Given the description of an element on the screen output the (x, y) to click on. 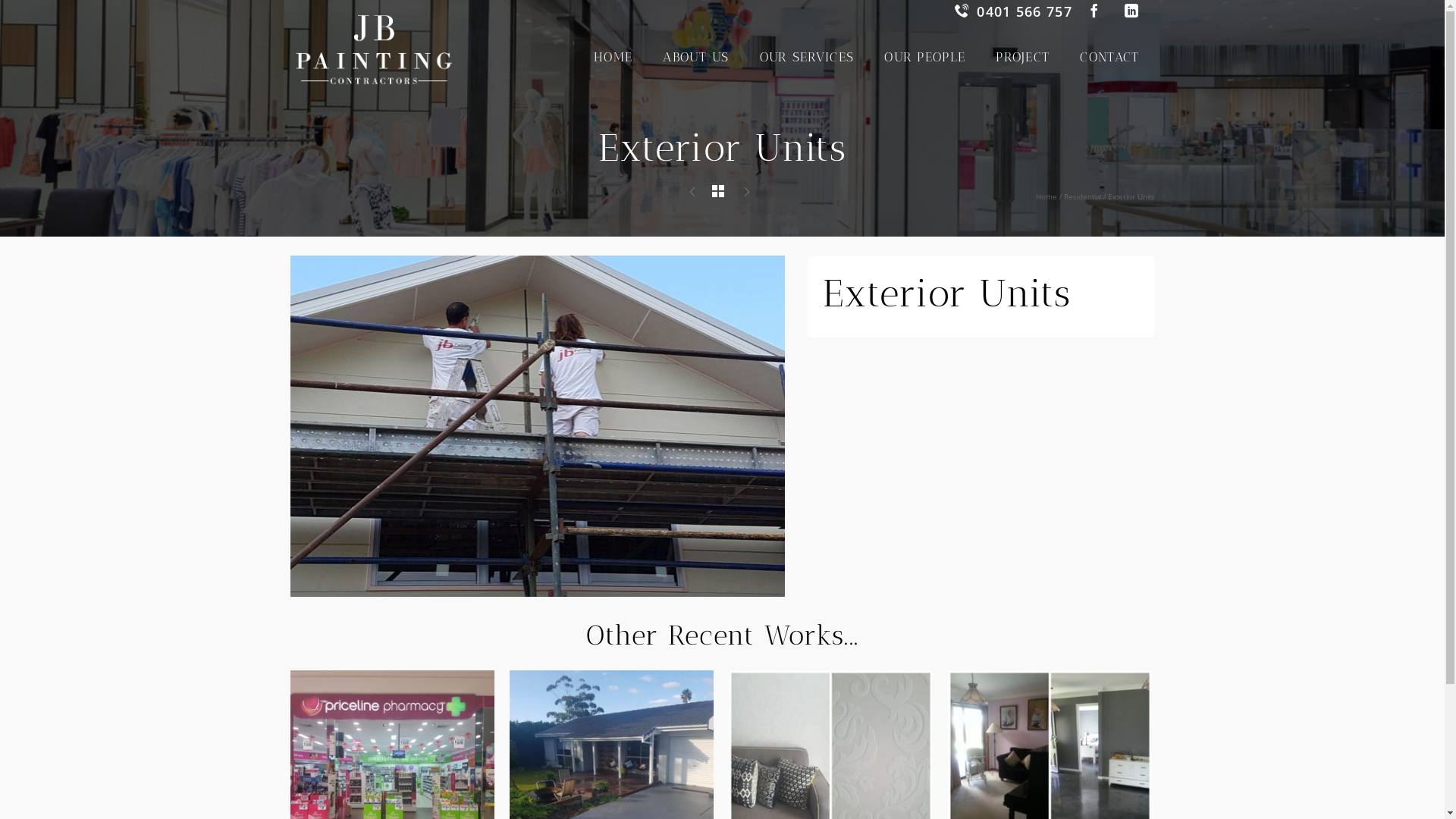
HOME Element type: text (612, 56)
Residential Element type: text (1081, 196)
OUR PEOPLE Element type: text (924, 56)
0401 566 757 Element type: text (1013, 10)
Kiama Leagues Club Element type: hover (694, 191)
Home Element type: text (1046, 196)
Anna Thomas Queen Victoria Building Sydney Element type: hover (749, 191)
CONTACT Element type: text (1109, 56)
ABOUT US Element type: text (695, 56)
PROJECT Element type: text (1022, 56)
OUR SERVICES Element type: text (806, 56)
